Given the description of an element on the screen output the (x, y) to click on. 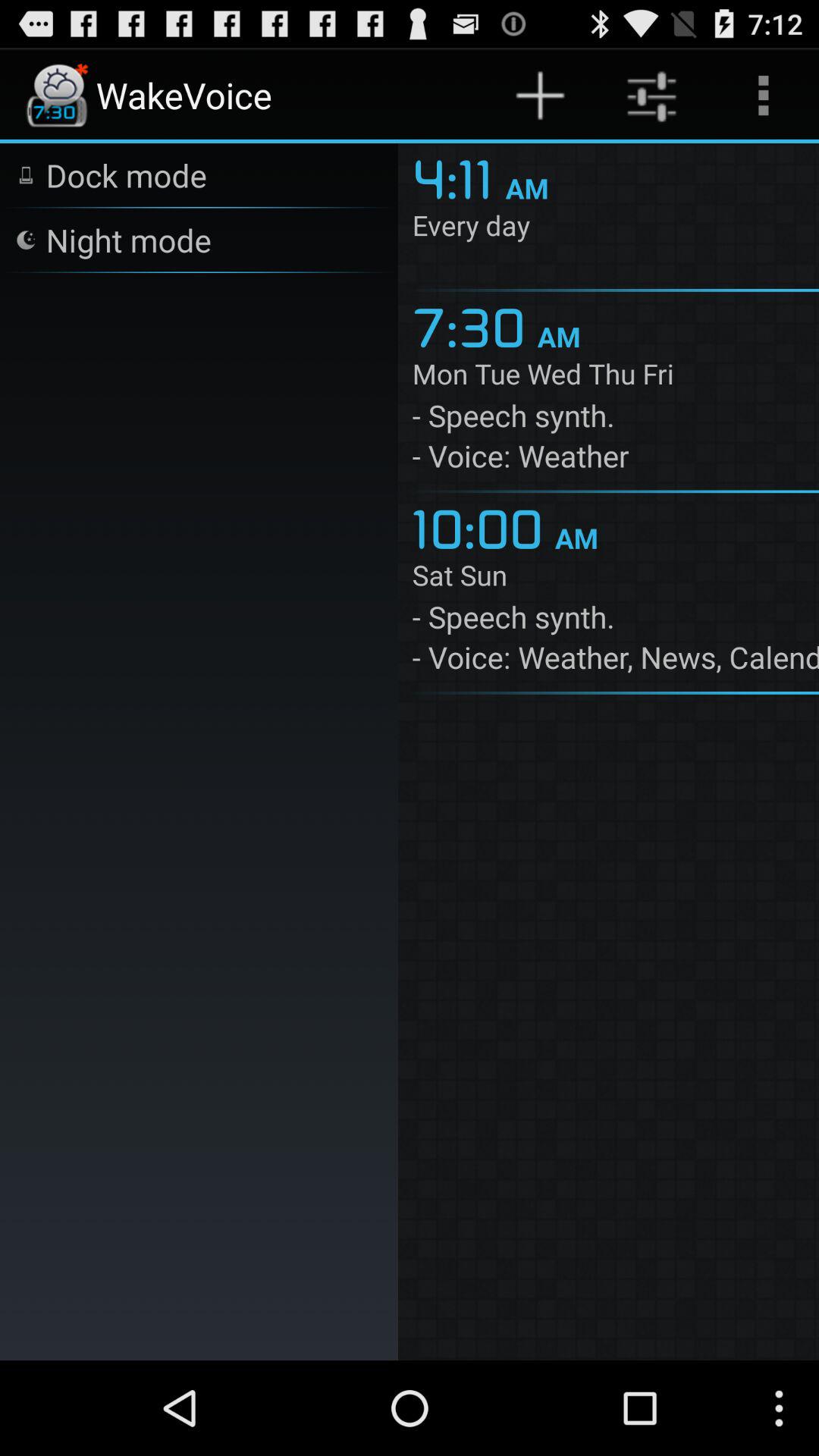
turn on app below 7:30 (615, 376)
